Given the description of an element on the screen output the (x, y) to click on. 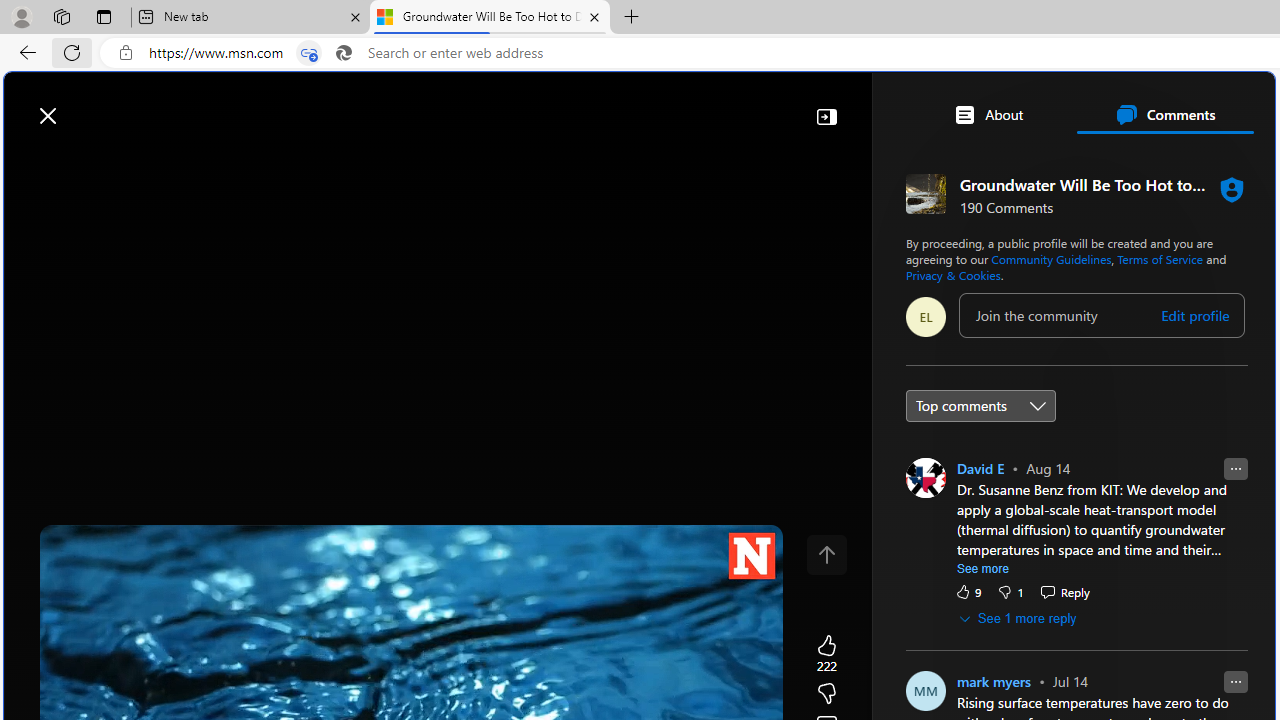
Privacy & Cookies (952, 273)
Open navigation menu (29, 162)
Reply Reply Comment (1064, 591)
See 1 more reply (1018, 618)
Enter your search term (644, 106)
